Given the description of an element on the screen output the (x, y) to click on. 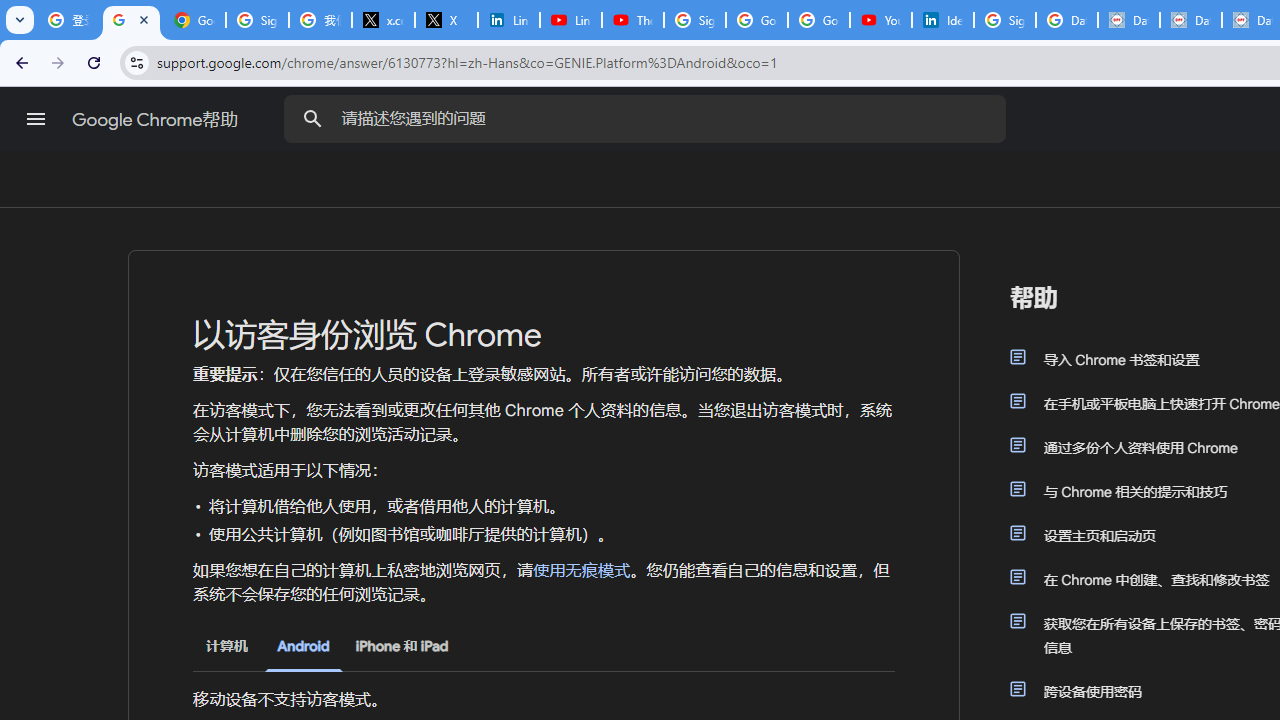
Sign in - Google Accounts (694, 20)
Data Privacy Framework (1128, 20)
X (445, 20)
LinkedIn Privacy Policy (508, 20)
LinkedIn - YouTube (570, 20)
Identity verification via Persona | LinkedIn Help (942, 20)
